Given the description of an element on the screen output the (x, y) to click on. 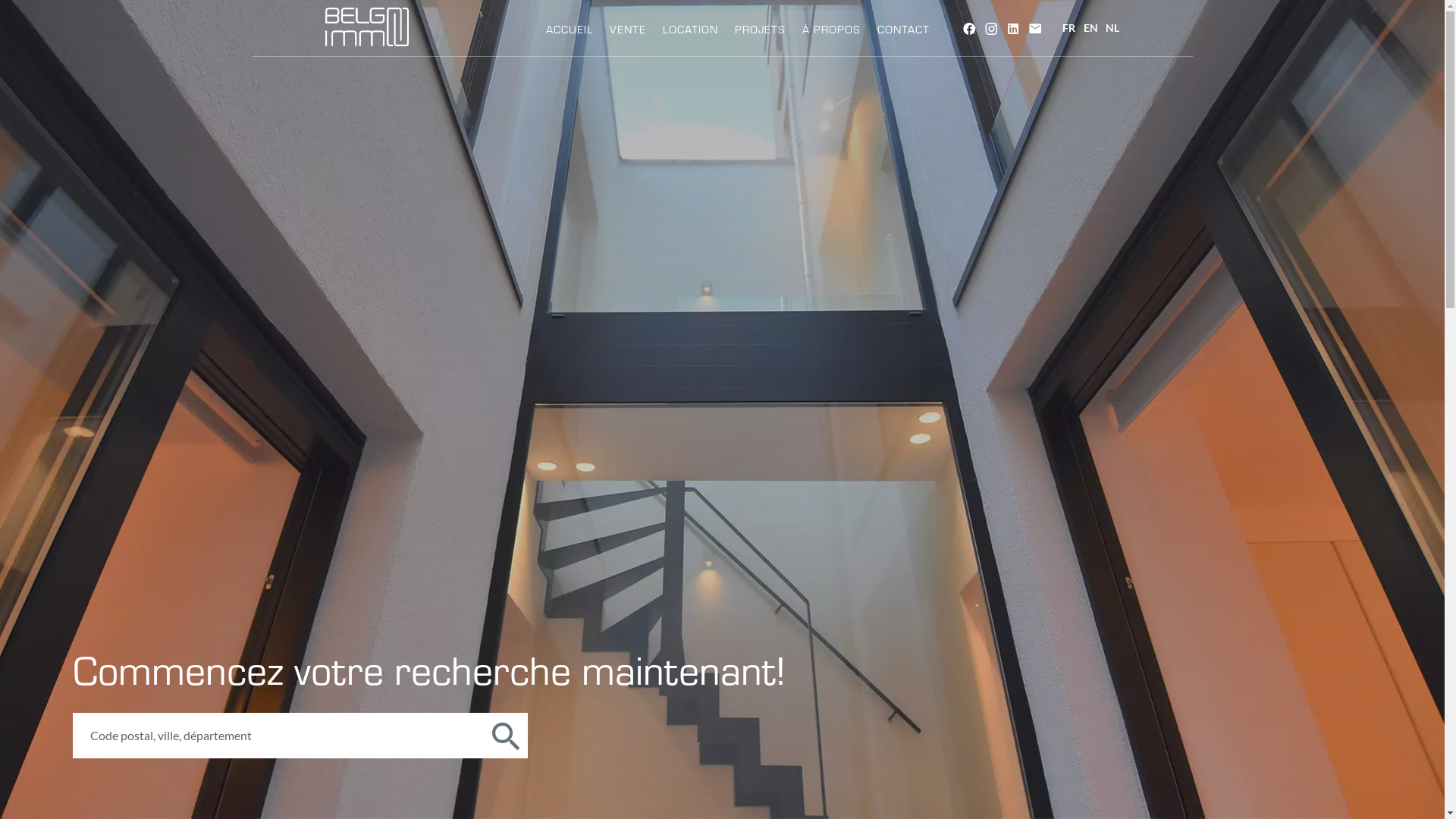
Return to home page now Element type: text (721, 516)
